Given the description of an element on the screen output the (x, y) to click on. 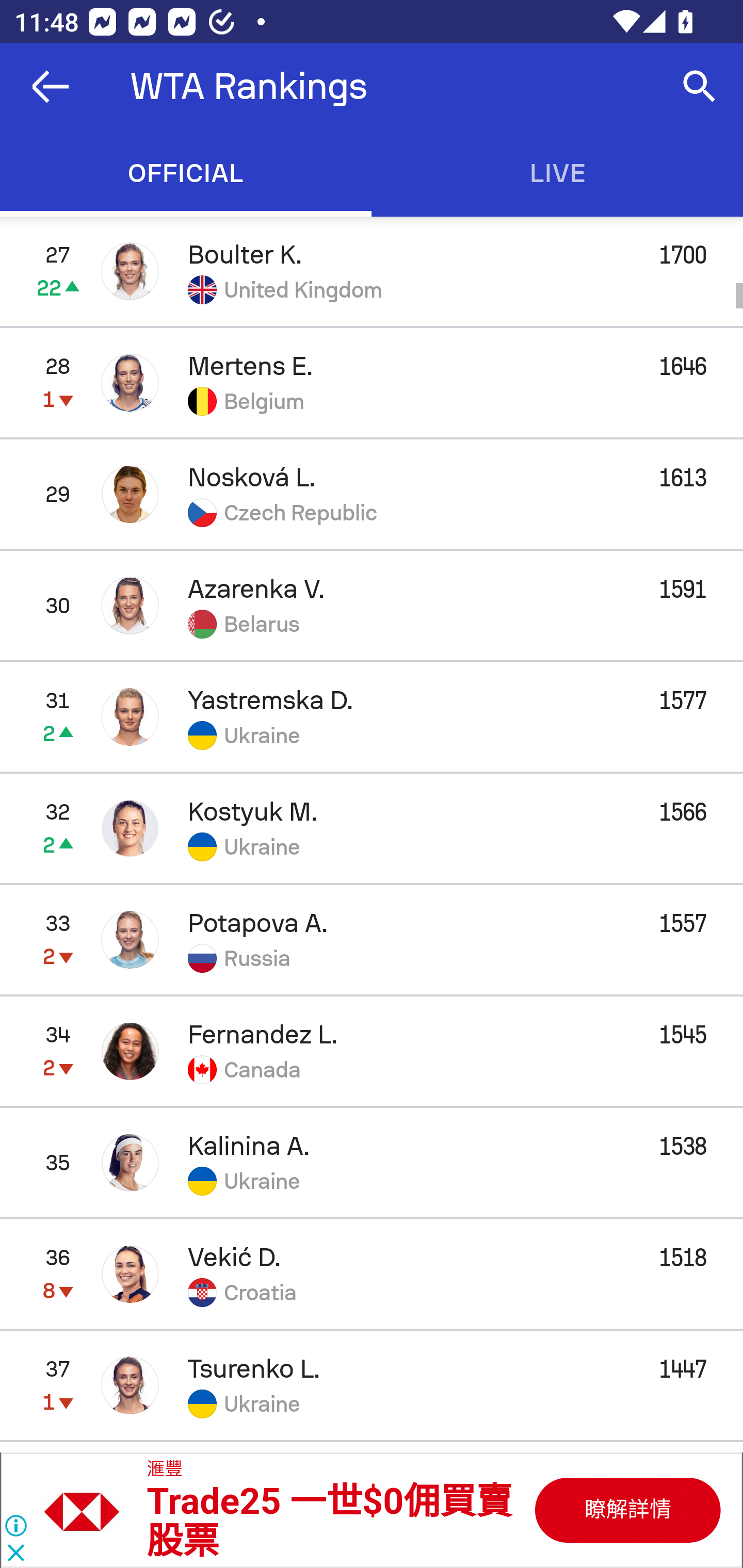
Navigate up (50, 86)
Search (699, 86)
Live LIVE (557, 173)
27 22 Boulter K. 1700 United Kingdom (371, 271)
28 1 Mertens E. 1646 Belgium (371, 382)
29 Nosková L. 1613 Czech Republic (371, 493)
30 Azarenka V. 1591 Belarus (371, 605)
31 2 Yastremska D. 1577 Ukraine (371, 716)
32 2 Kostyuk M. 1566 Ukraine (371, 827)
33 2 Potapova A. 1557 Russia (371, 939)
34 2 Fernandez L. 1545 Canada (371, 1051)
35 Kalinina A. 1538 Ukraine (371, 1162)
36 8 Vekić D. 1518 Croatia (371, 1273)
37 1 Tsurenko L. 1447 Ukraine (371, 1385)
滙豐 (164, 1469)
B31525787 (92, 1509)
B31525787 (626, 1509)
Trade25 一世$0佣買賣 股票 Trade25 一世$0佣買賣 股票 (328, 1521)
